Given the description of an element on the screen output the (x, y) to click on. 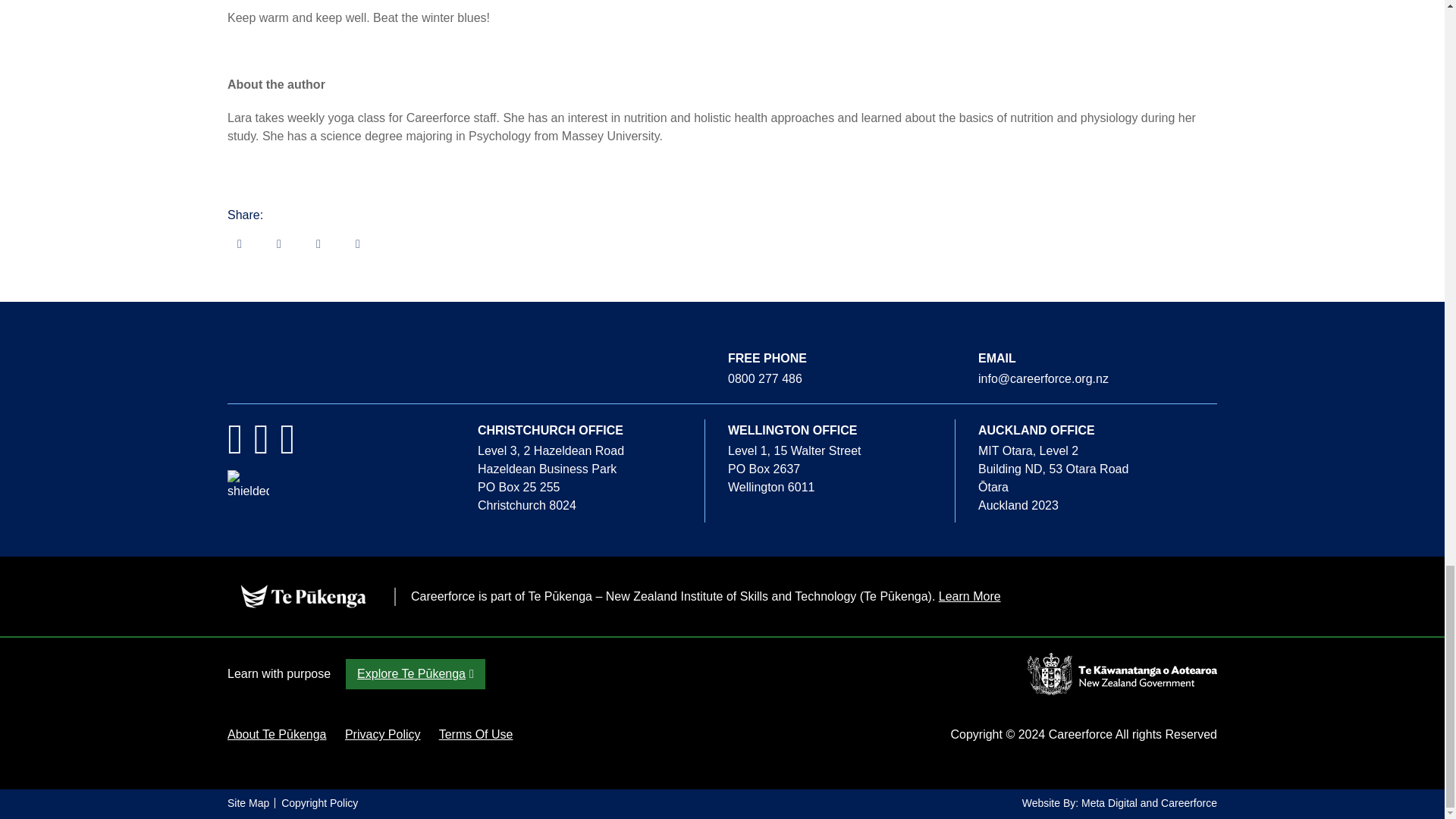
Facebook (278, 242)
Linked In (357, 242)
Twitter (317, 242)
E-Mail (239, 242)
